Given the description of an element on the screen output the (x, y) to click on. 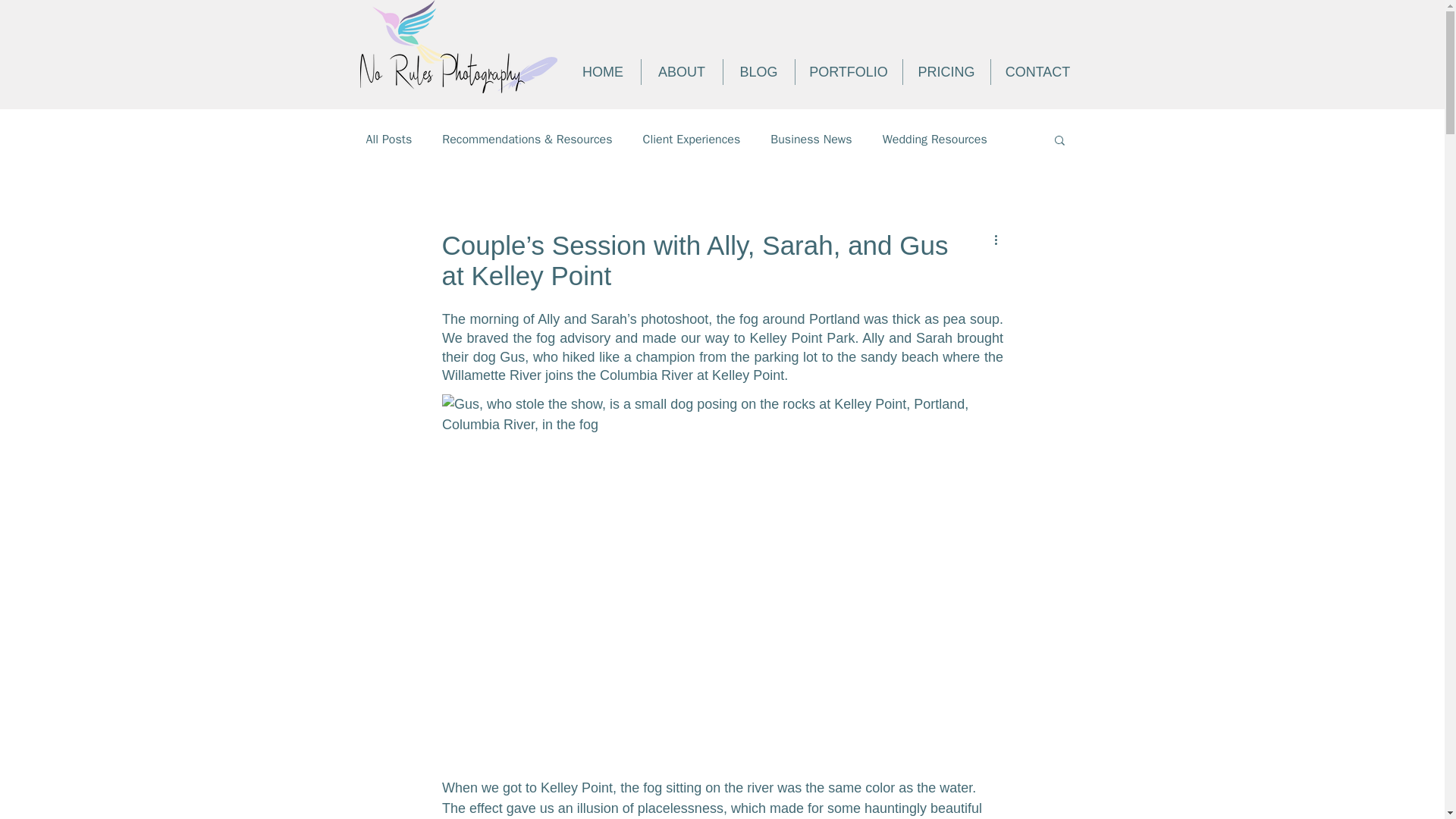
BLOG (757, 71)
HOME (603, 71)
PRICING (946, 71)
Business News (810, 139)
All Posts (388, 139)
Wedding Resources (934, 139)
ABOUT (681, 71)
CONTACT (1037, 71)
PORTFOLIO (848, 71)
Client Experiences (692, 139)
